Given the description of an element on the screen output the (x, y) to click on. 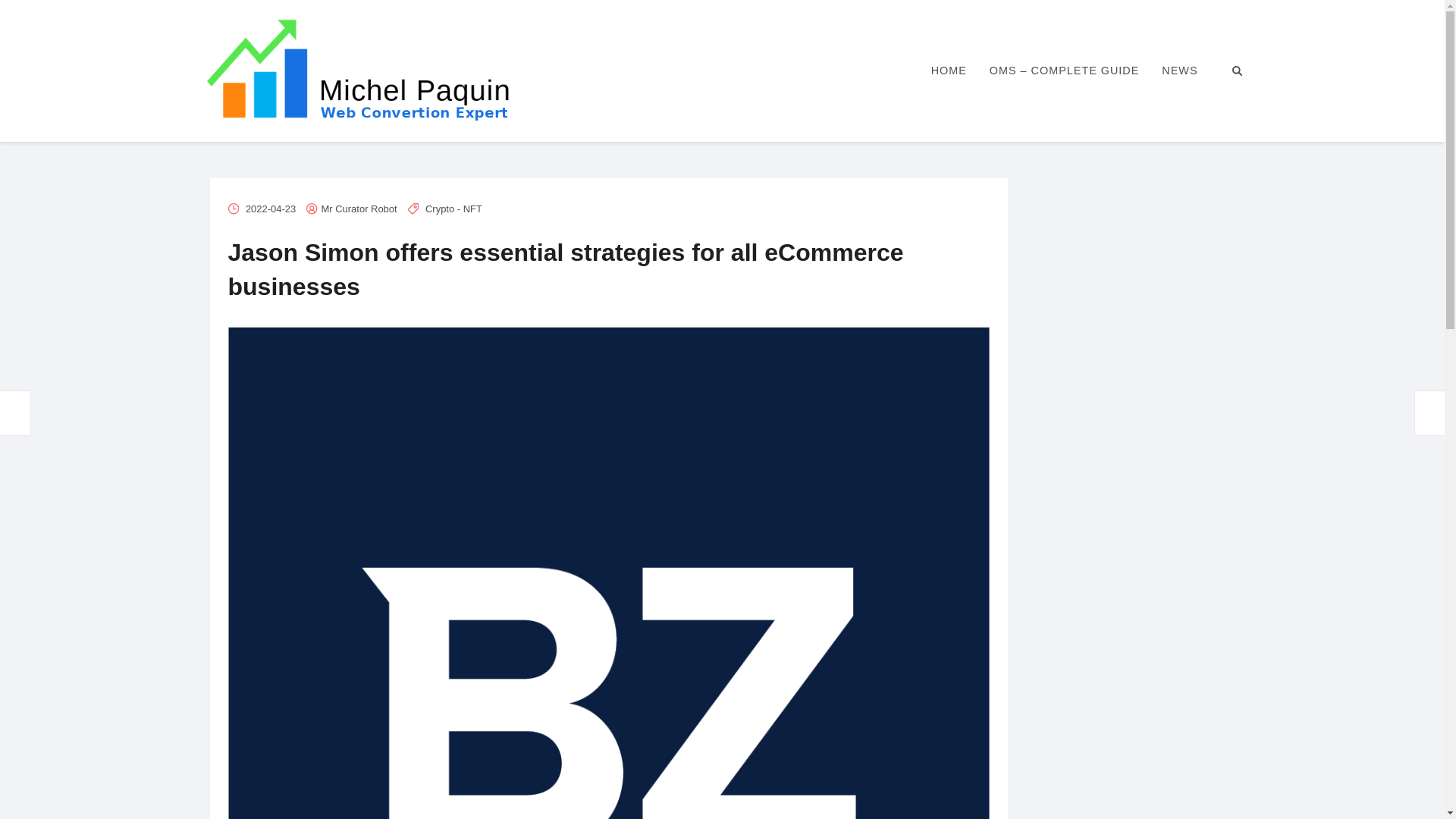
HOME (949, 70)
Crypto - NFT (453, 208)
Mr Curator Robot (359, 208)
2022-04-23 (270, 208)
NEWS (1179, 70)
